Given the description of an element on the screen output the (x, y) to click on. 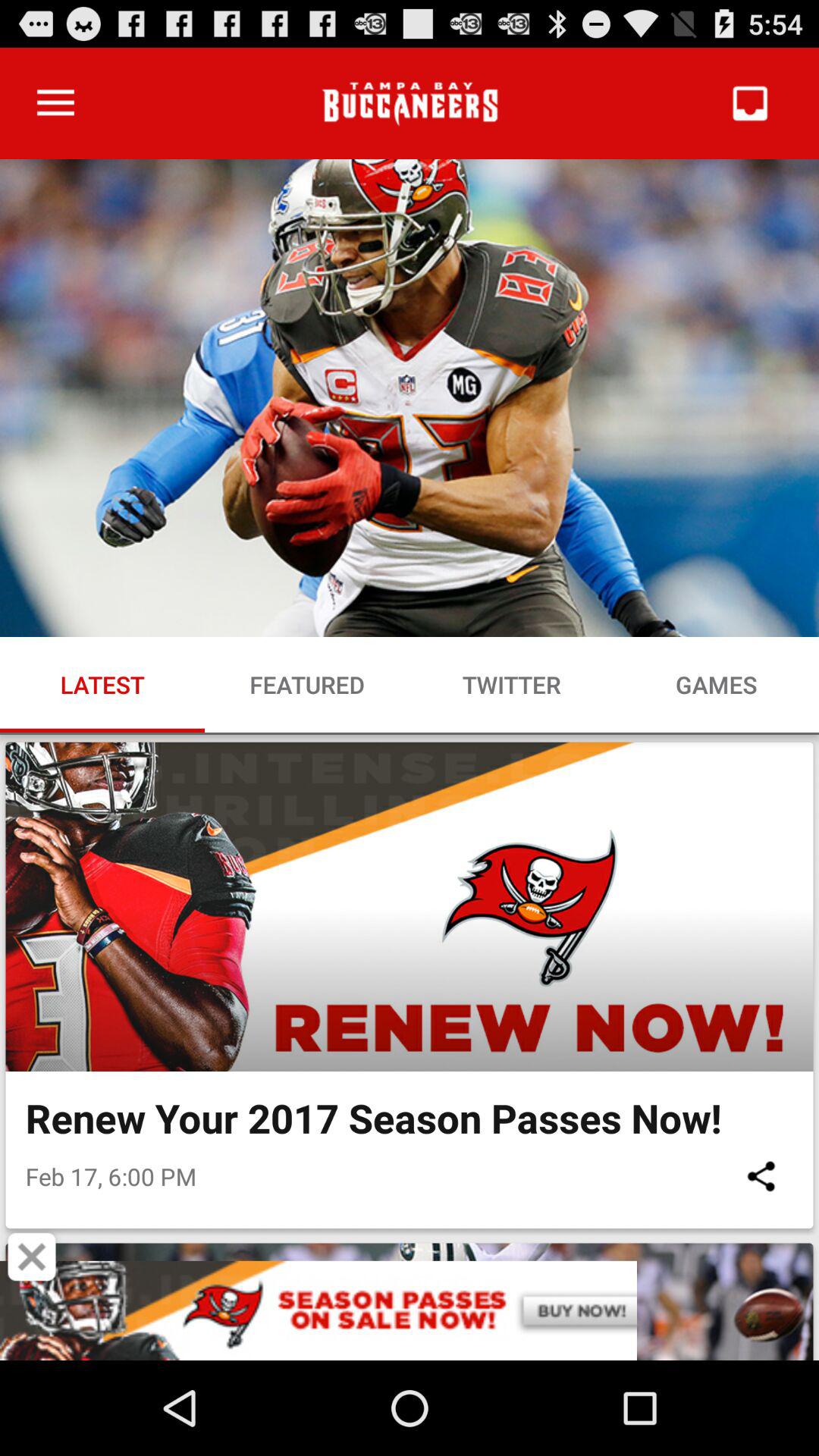
close advertisement (31, 1256)
